Given the description of an element on the screen output the (x, y) to click on. 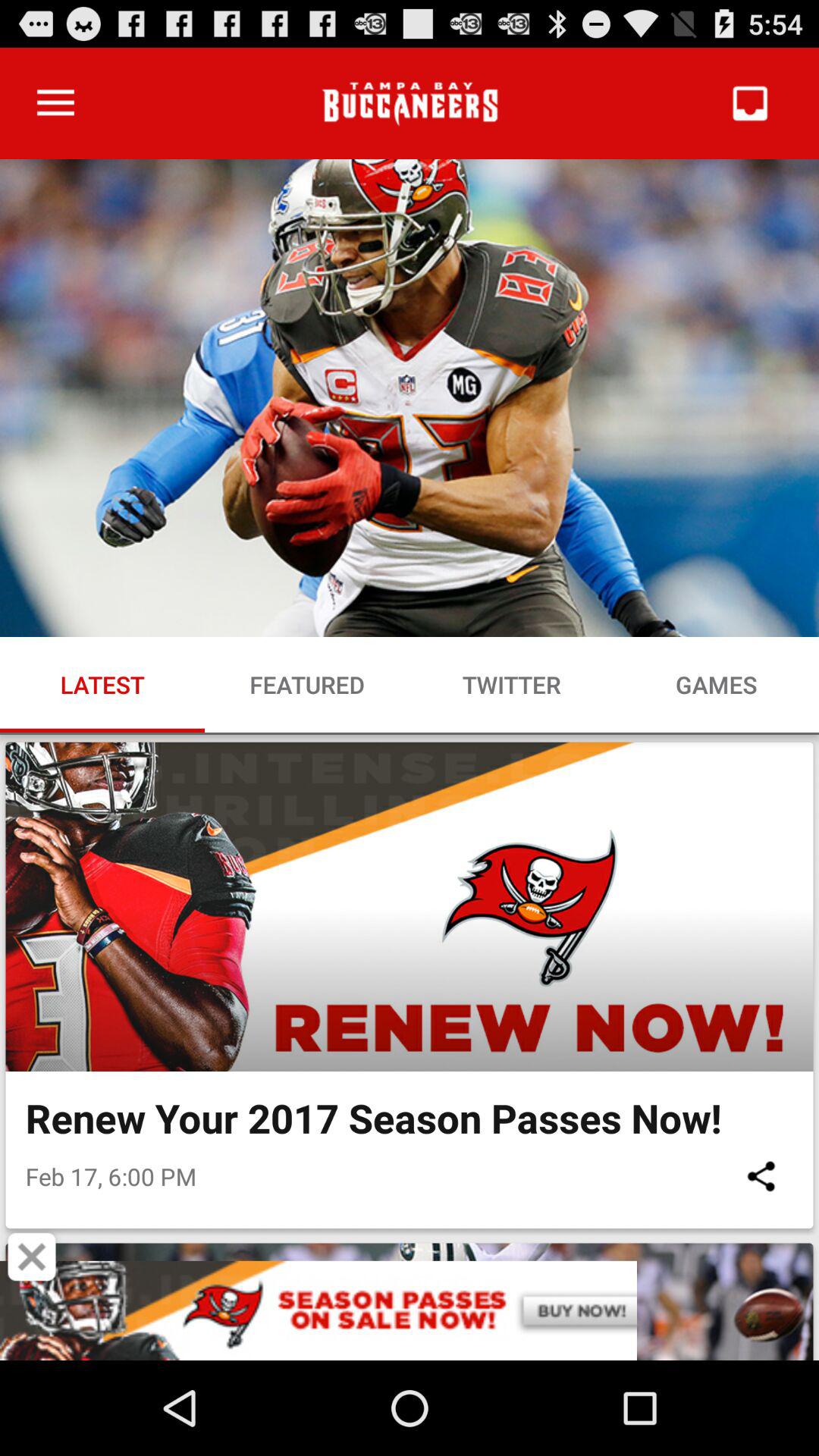
close advertisement (31, 1256)
